Given the description of an element on the screen output the (x, y) to click on. 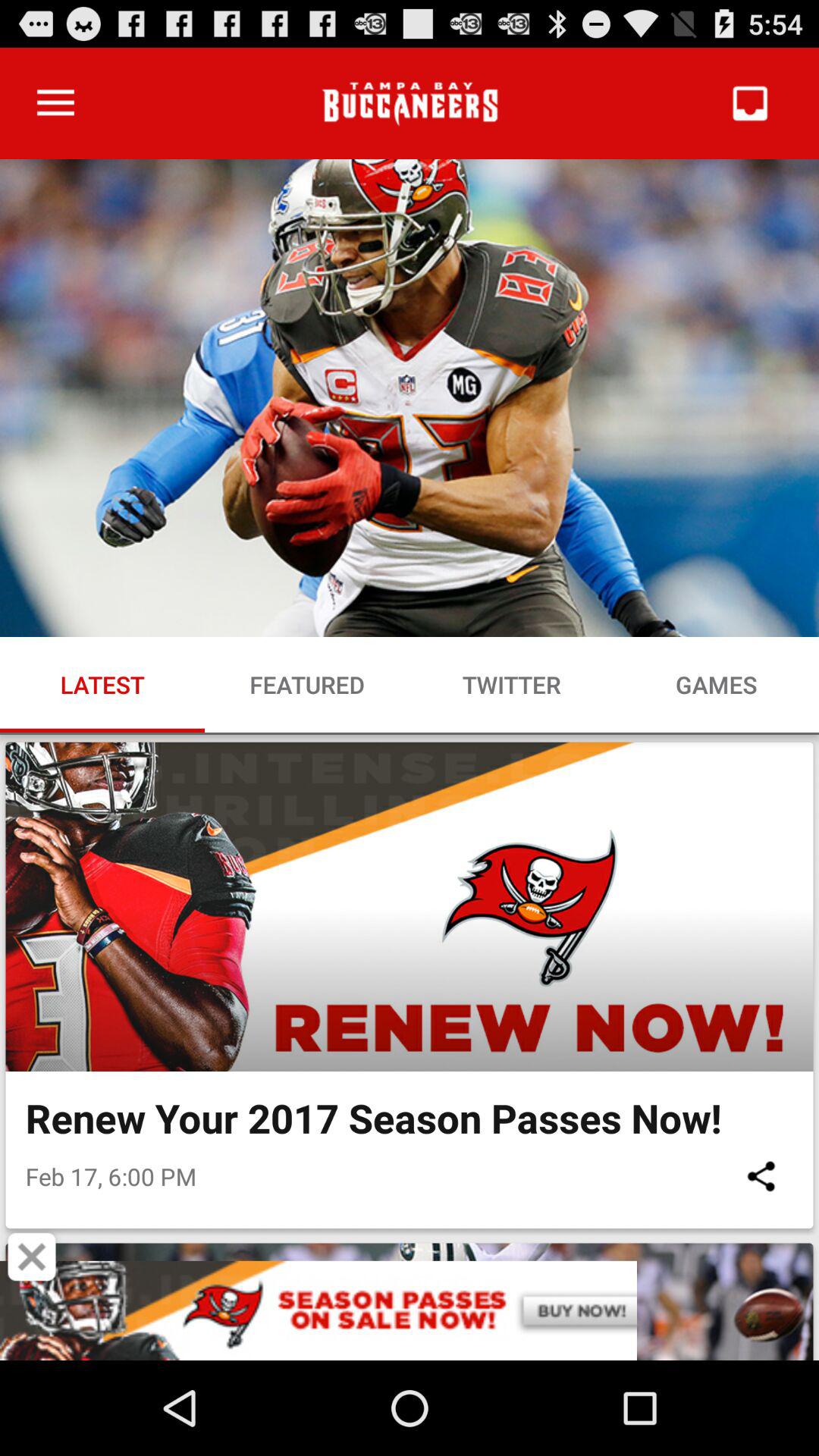
close advertisement (31, 1256)
